Given the description of an element on the screen output the (x, y) to click on. 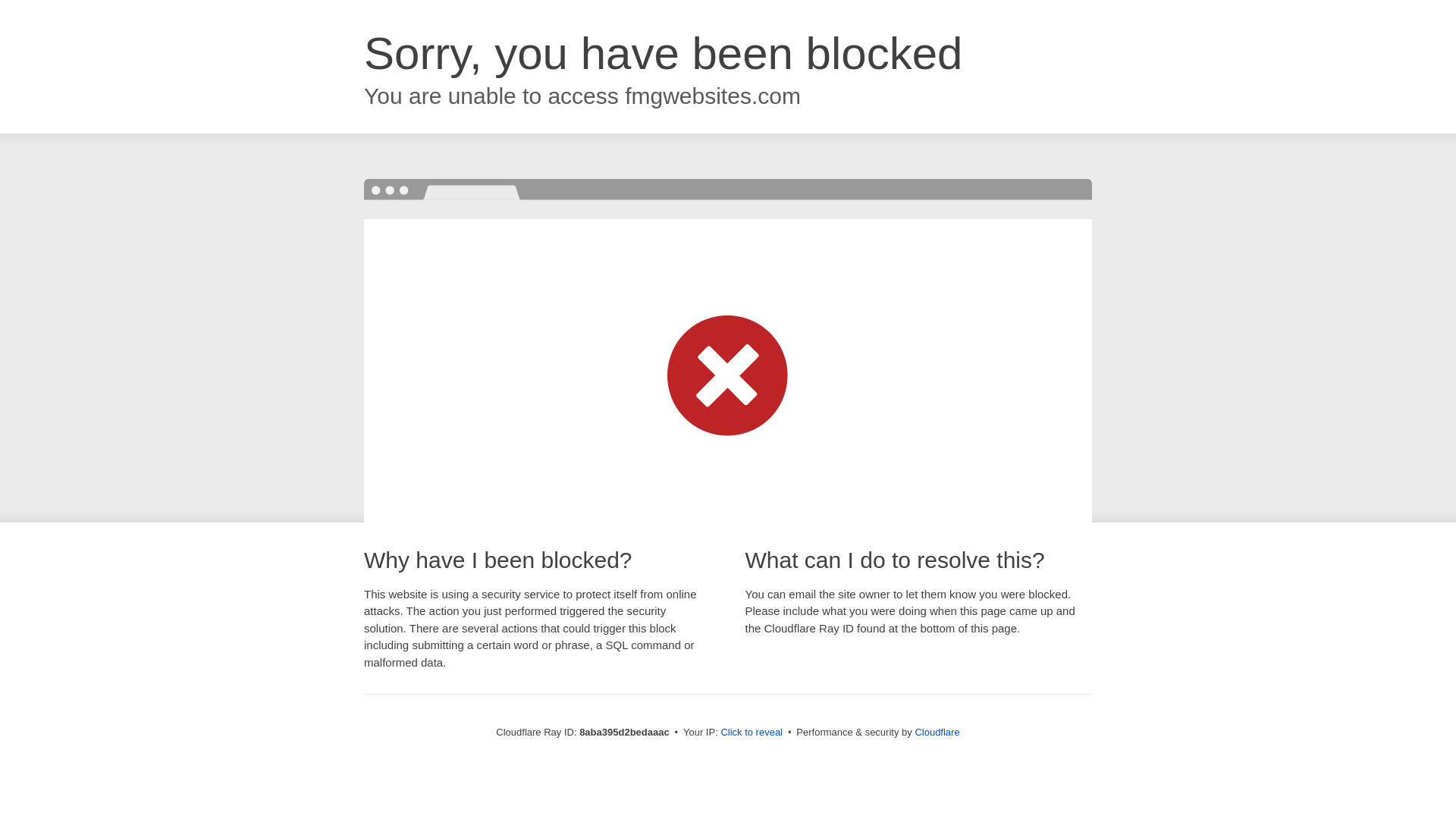
Click to reveal (751, 732)
Cloudflare (936, 731)
